Given the description of an element on the screen output the (x, y) to click on. 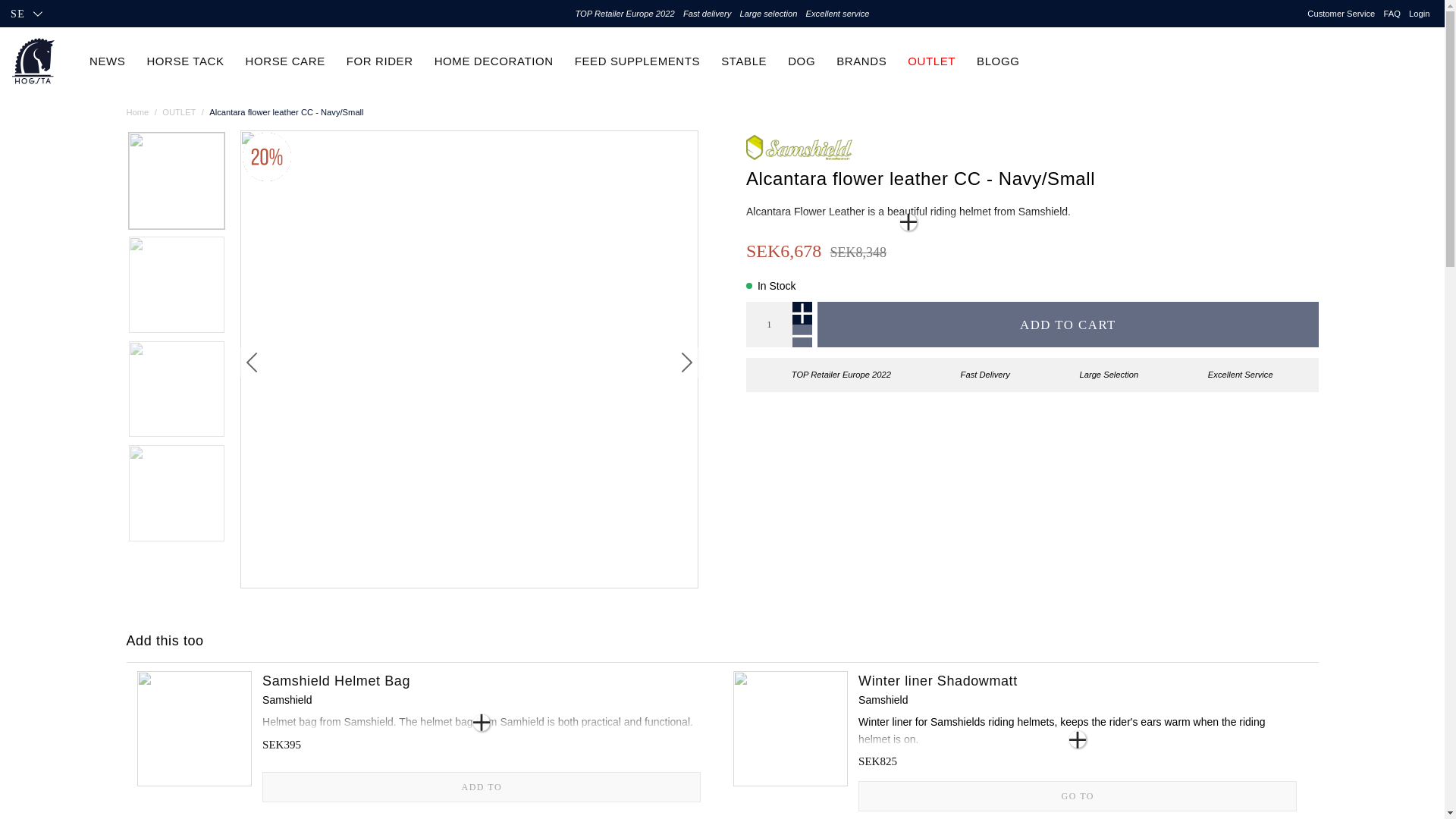
FOR RIDER (379, 61)
Customer Service (1340, 13)
GO TO (1078, 796)
Login (1419, 13)
1 (768, 324)
Winter liner Shadowmatt (1078, 680)
OUTLET (178, 112)
SE (26, 13)
BRANDS (860, 61)
ADD TO CART (1066, 324)
HOME DECORATION (493, 61)
Home (136, 112)
HORSE CARE (285, 61)
GO TO (1078, 795)
